Given the description of an element on the screen output the (x, y) to click on. 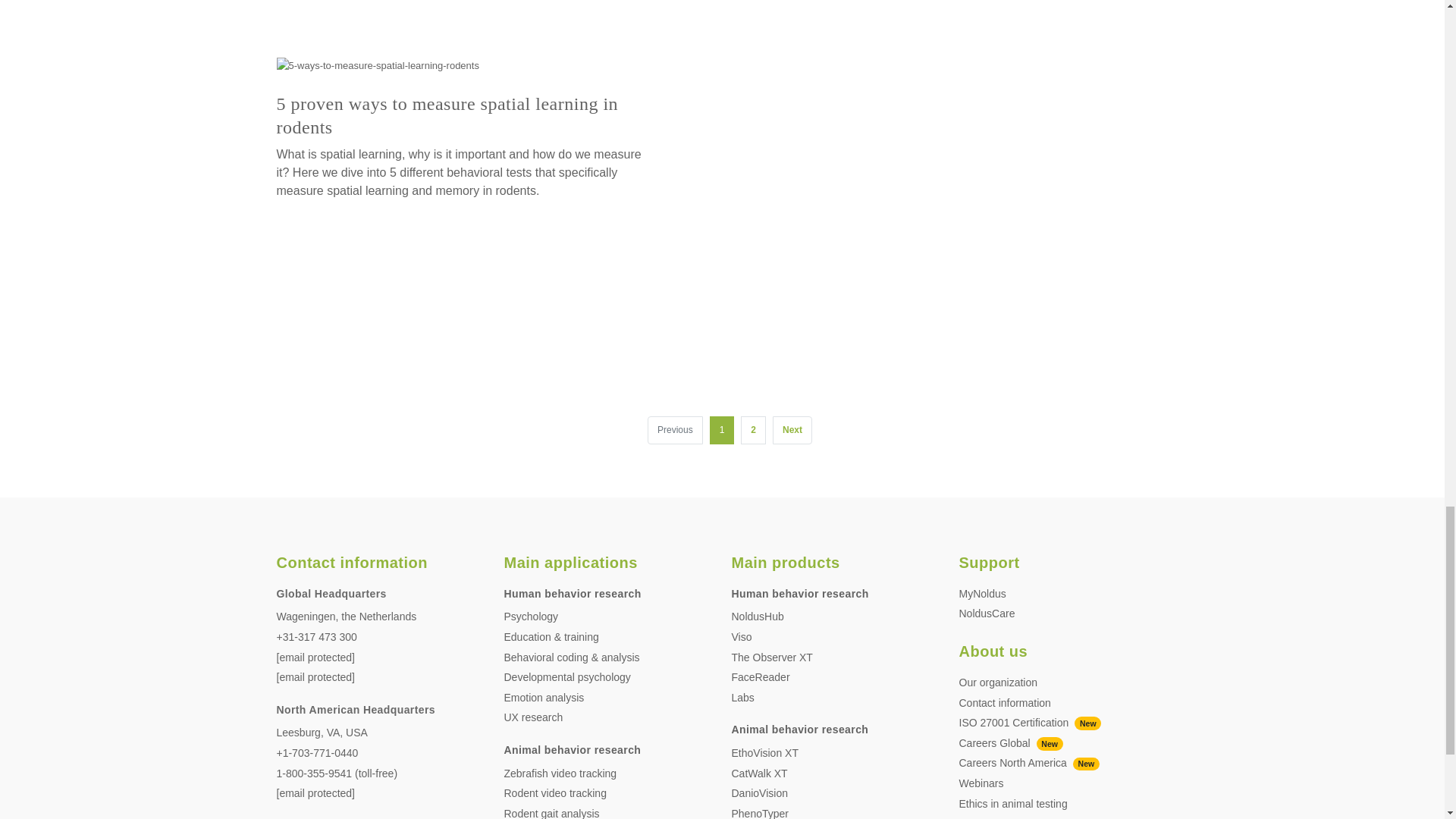
Next (792, 430)
5 proven ways to measure spatial learning in rodents (377, 65)
5 proven ways to measure spatial learning in rodents (446, 115)
2 (753, 430)
